Given the description of an element on the screen output the (x, y) to click on. 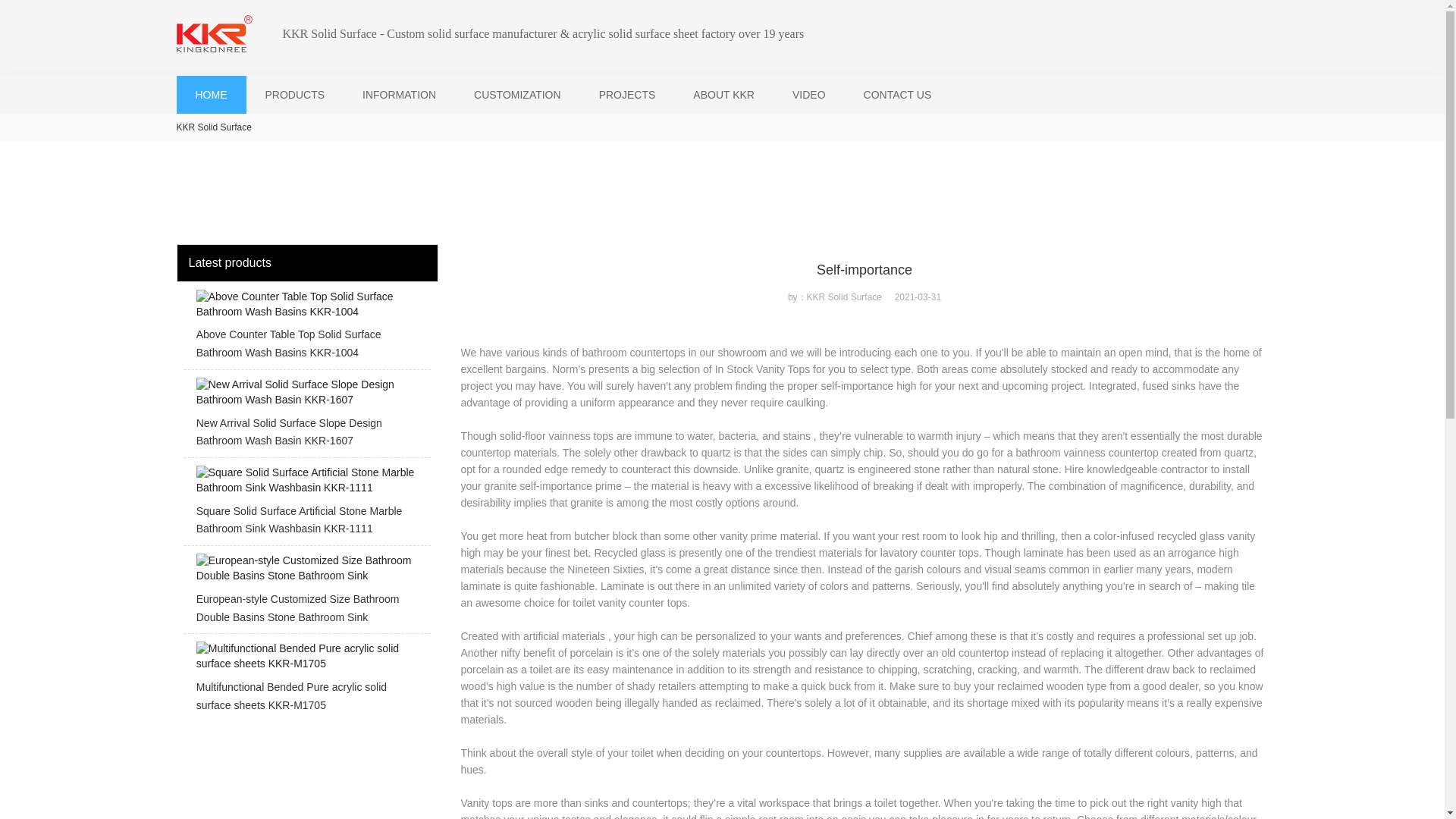
CUSTOMIZATION (517, 94)
INFORMATION (398, 94)
CONTACT US (897, 94)
PRODUCTS (294, 94)
PROJECTS (627, 94)
HOME (211, 94)
KKR Solid Surface (213, 127)
ABOUT KKR (723, 94)
VIDEO (808, 94)
